Given the description of an element on the screen output the (x, y) to click on. 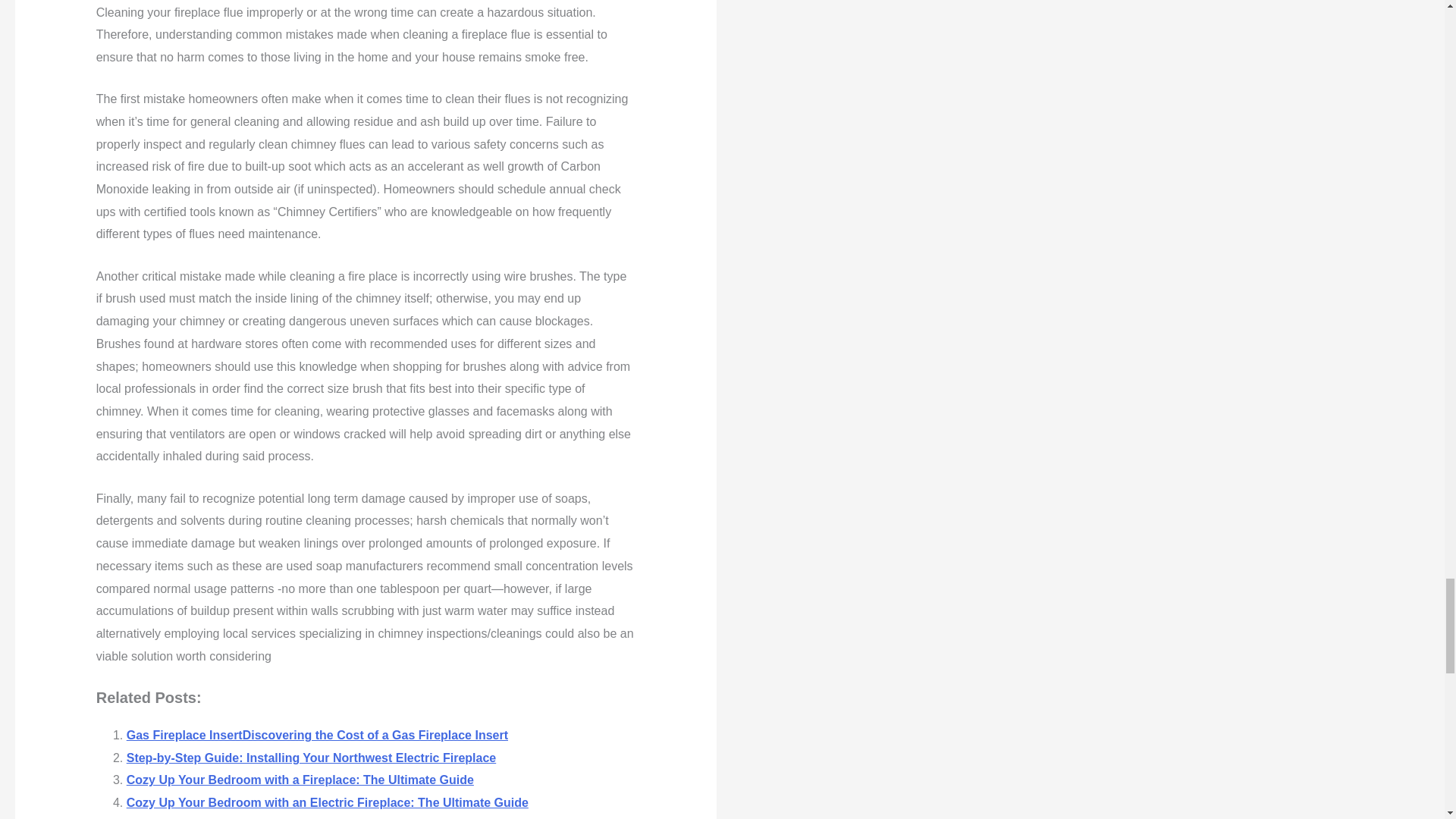
Cozy Up Your Bedroom with a Fireplace: The Ultimate Guide (300, 779)
Cozy Up Your Bedroom with a Fireplace: The Ultimate Guide (300, 779)
